Given the description of an element on the screen output the (x, y) to click on. 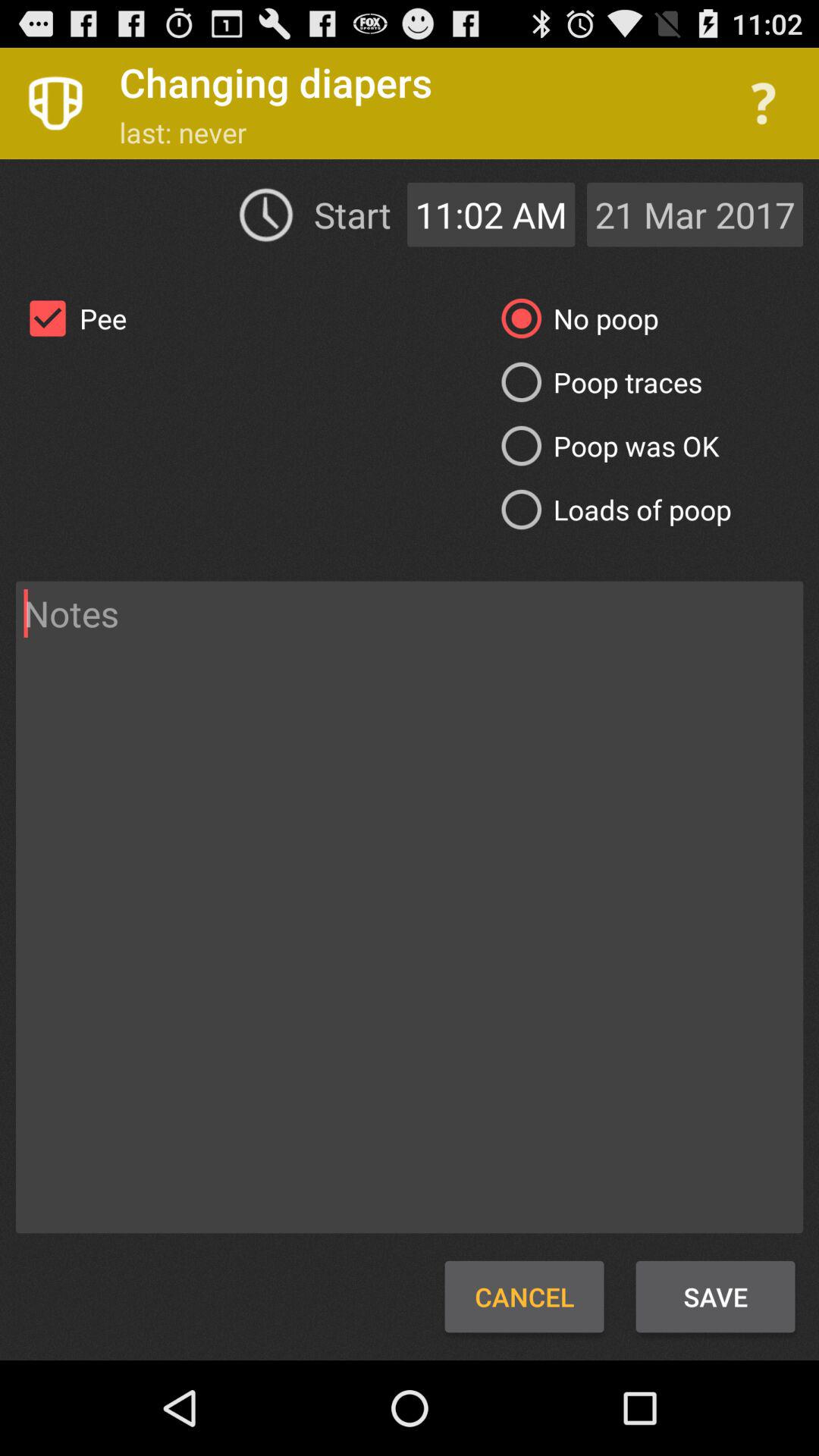
turn off item to the right of changing diapers (763, 103)
